Given the description of an element on the screen output the (x, y) to click on. 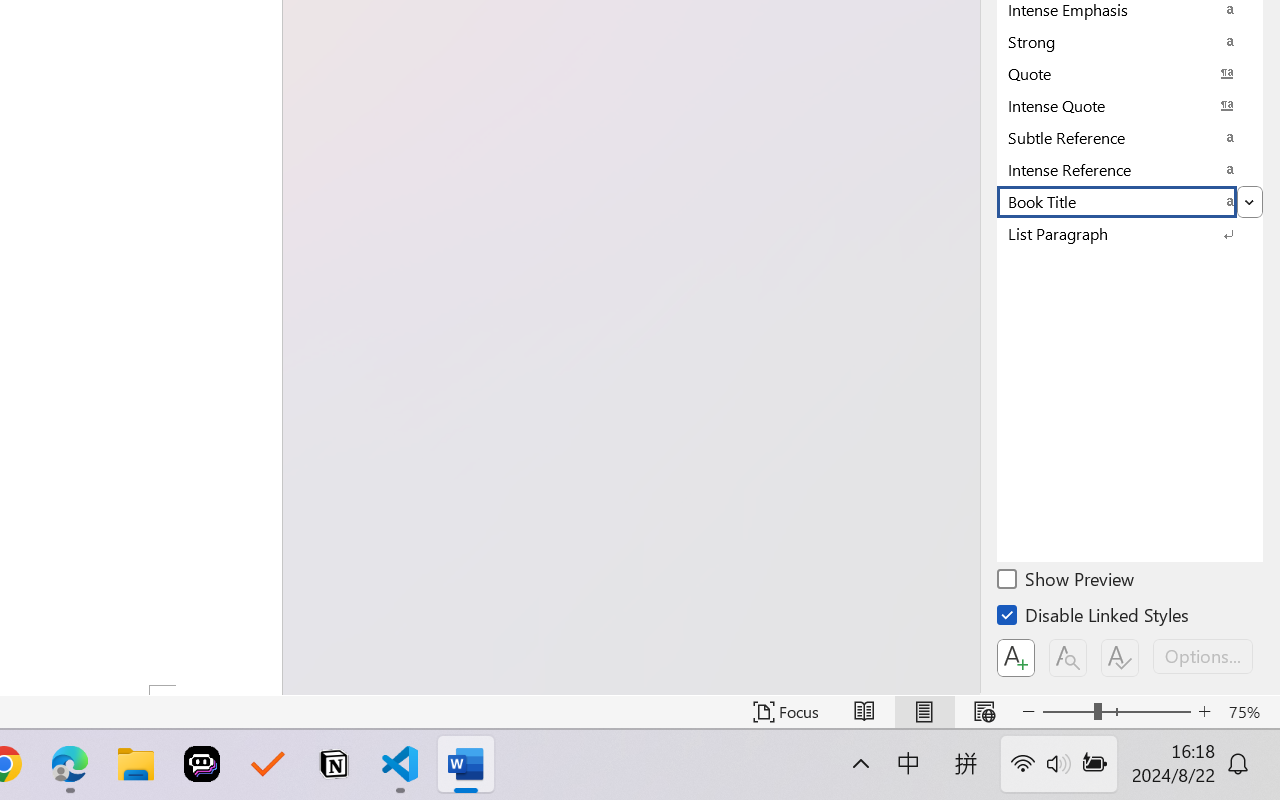
Show Preview (1067, 582)
Quote (1130, 73)
Subtle Reference (1130, 137)
Strong (1130, 41)
Book Title (1130, 201)
Zoom 75% (1249, 712)
Disable Linked Styles (1094, 618)
Intense Quote (1130, 105)
Class: NetUIButton (1119, 657)
